Given the description of an element on the screen output the (x, y) to click on. 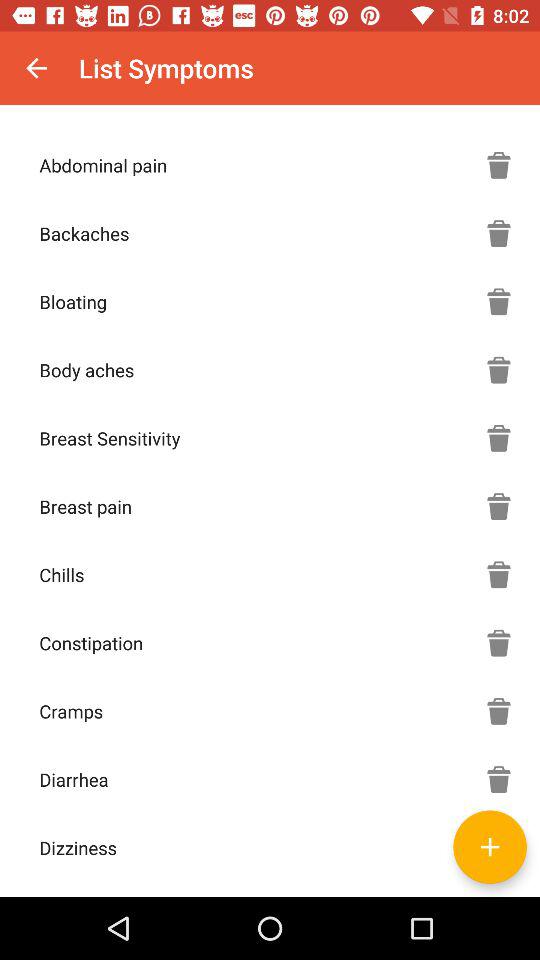
delete symptom (499, 779)
